Given the description of an element on the screen output the (x, y) to click on. 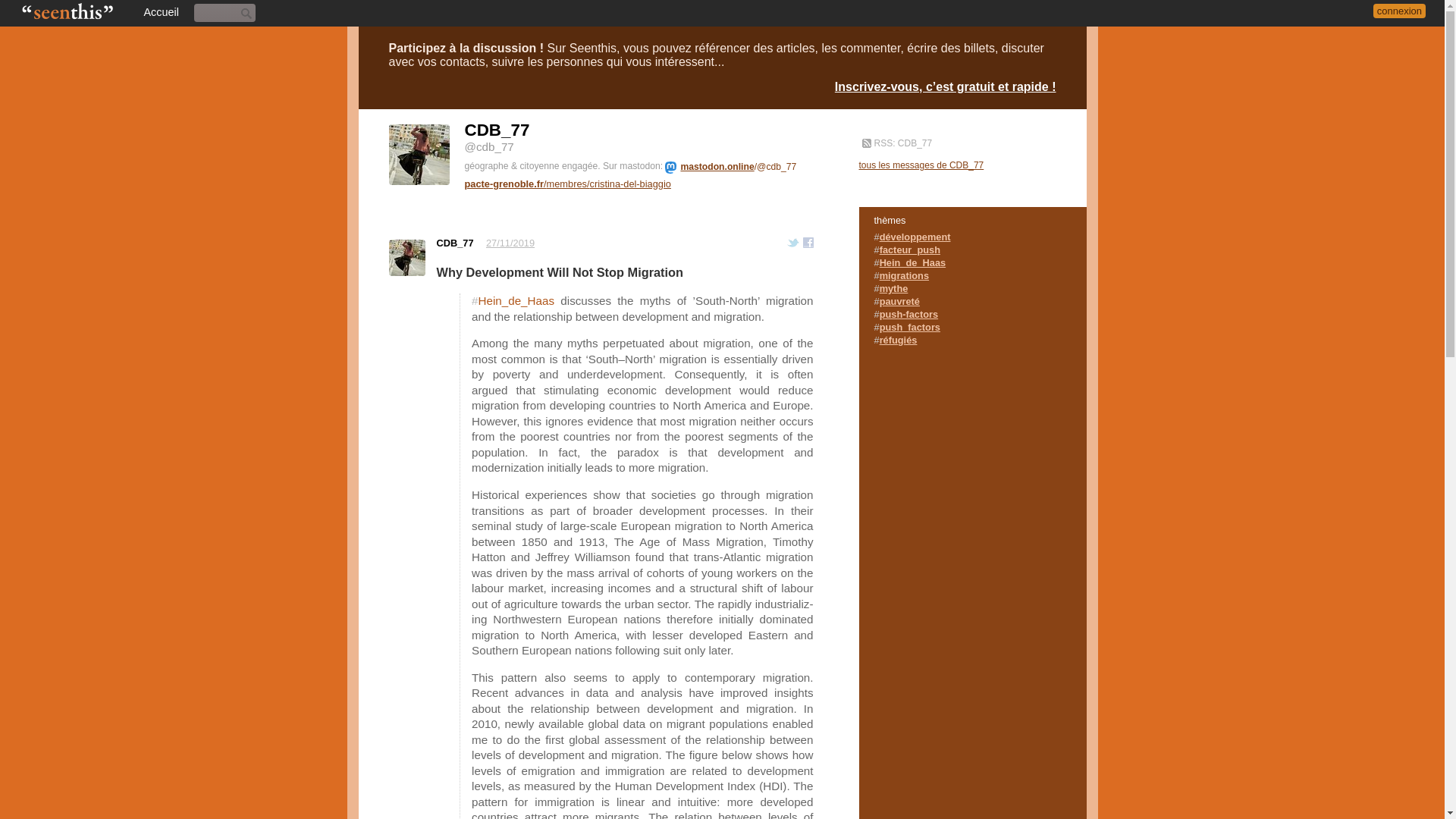
Twitter (793, 243)
27 novembre 2019 14:29:57 (510, 242)
Accueil (159, 11)
